Given the description of an element on the screen output the (x, y) to click on. 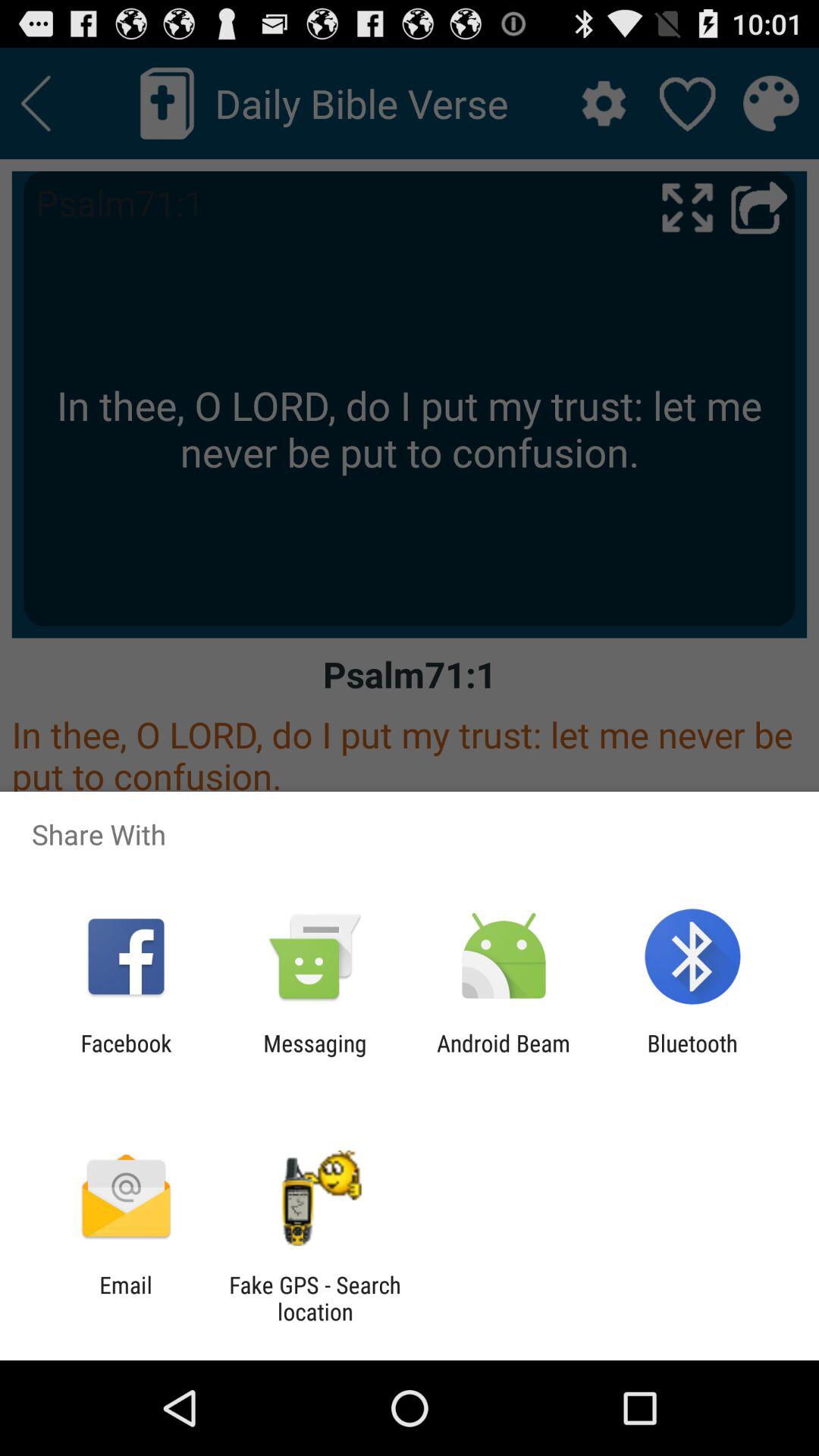
turn on the icon to the left of the bluetooth item (503, 1056)
